Given the description of an element on the screen output the (x, y) to click on. 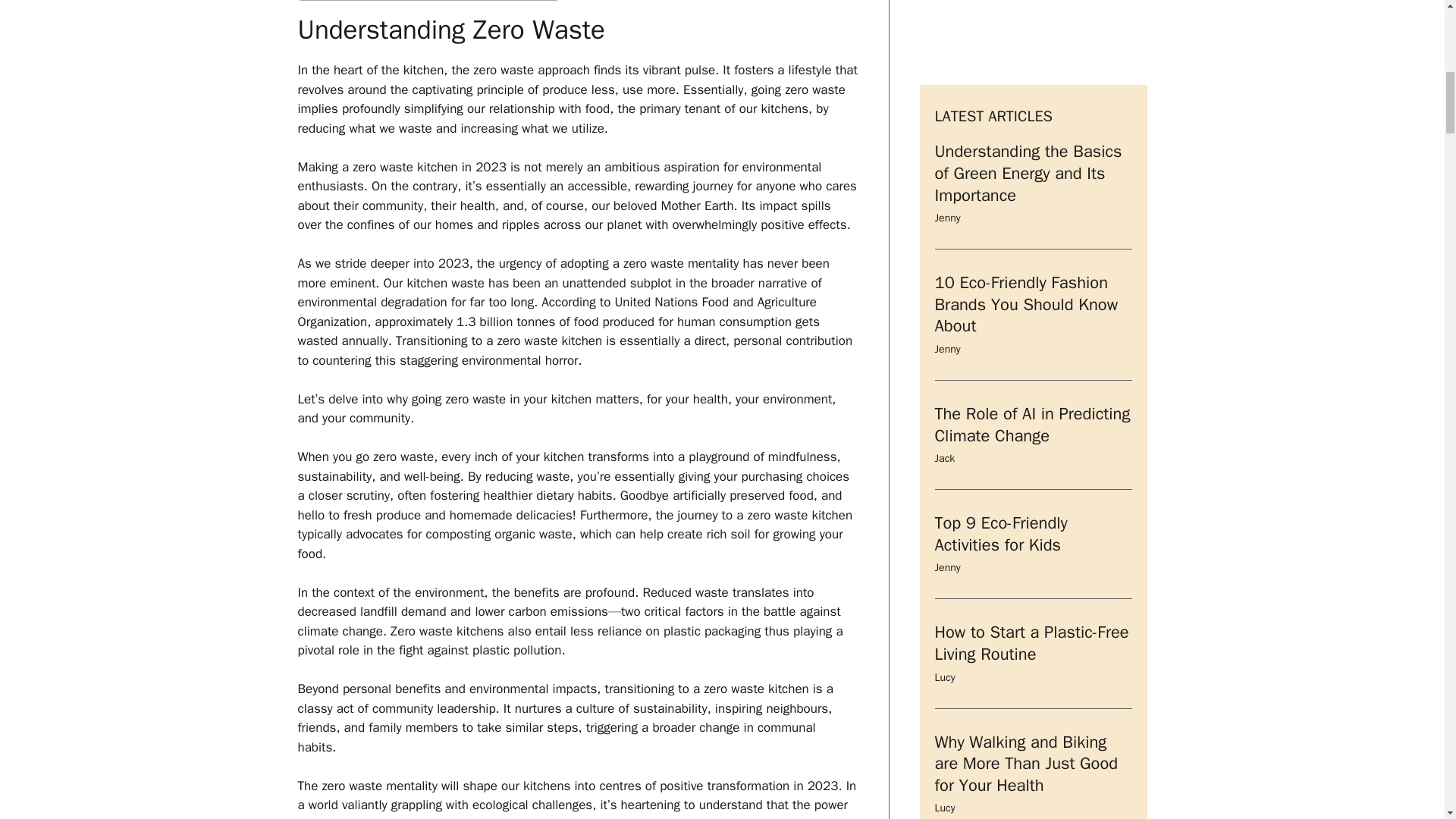
How to Start a Plastic-Free Living Routine (1031, 106)
Top 10 Plant-Based Cookbooks for Delicious Vegan Meals (1022, 620)
Why Remote Work is the Future of Sustainable Business (1023, 357)
Wake Up: The Shocking Environmental Impact of Your Lifestyle (1021, 489)
Lucy (944, 665)
Jack (944, 402)
The Meat Myth: Your Steak Dinner is Destroying the Planet (1030, 751)
Lucy (944, 271)
Top 9 Eco-Friendly Activities for Kids (1000, 9)
Jenny (946, 31)
Susan (948, 533)
Lucy (944, 141)
